Given the description of an element on the screen output the (x, y) to click on. 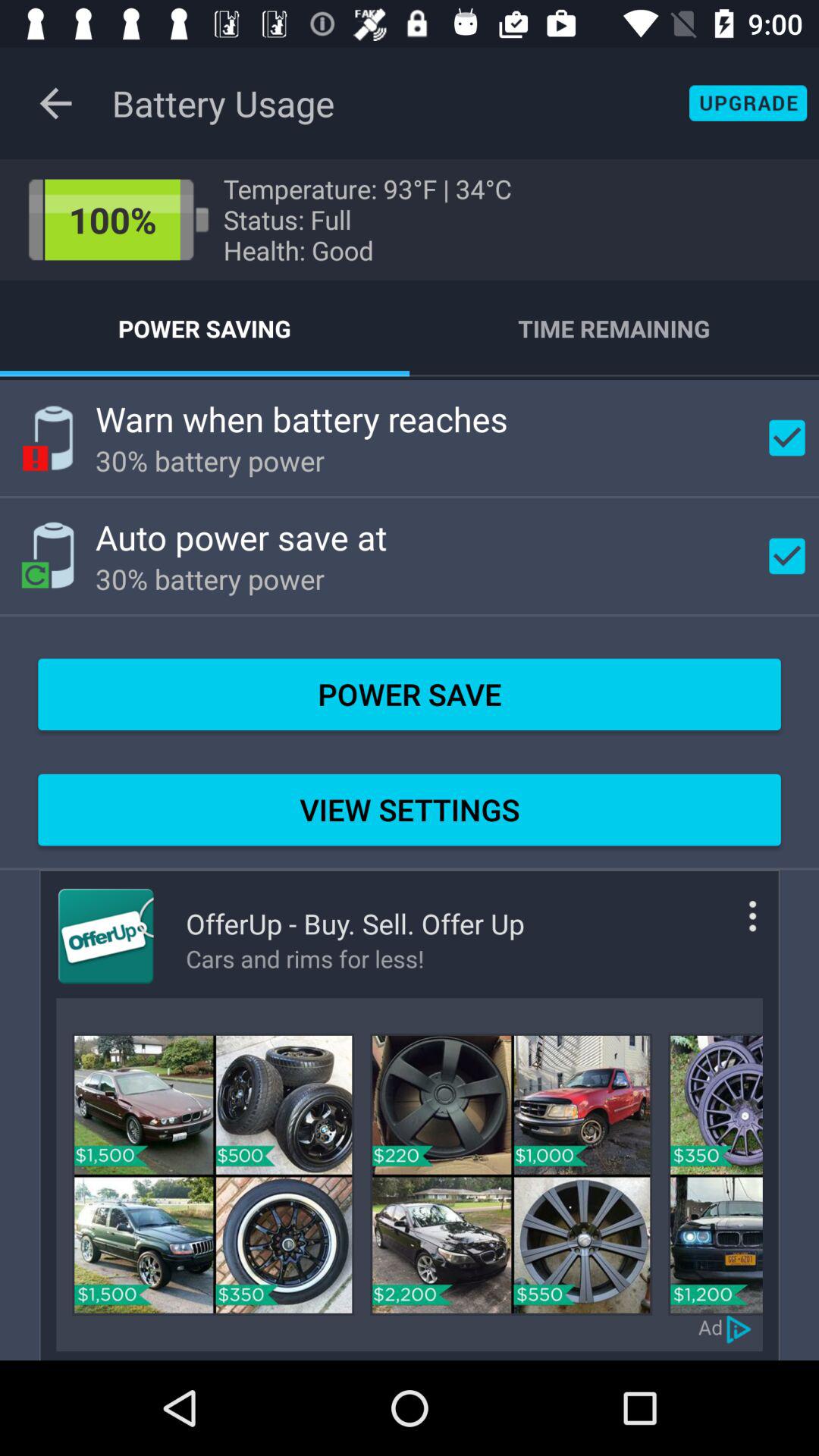
turn off time remaining icon (614, 328)
